Given the description of an element on the screen output the (x, y) to click on. 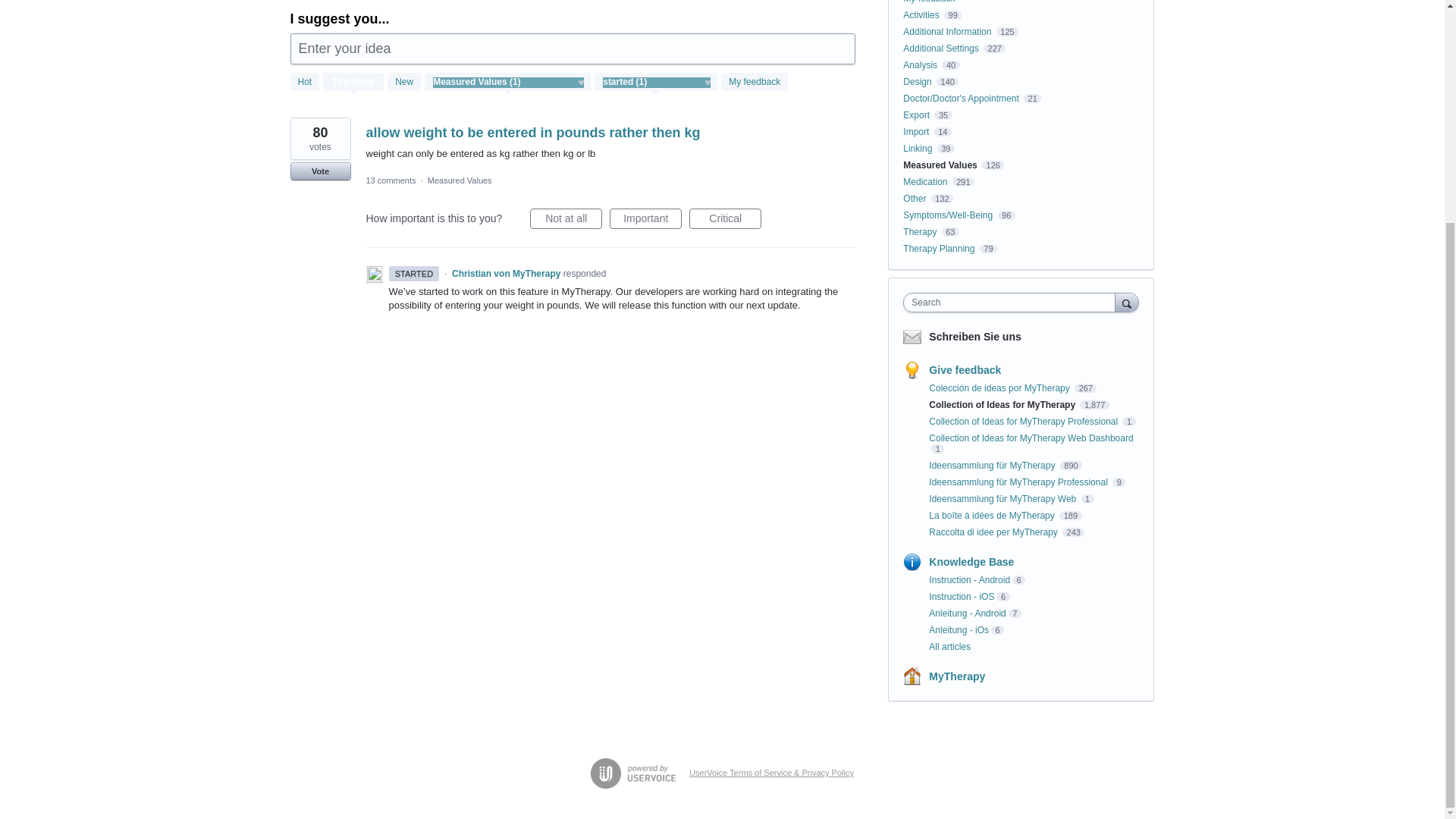
My feedback (753, 81)
allow weight to be entered in pounds rather then kg (532, 132)
View all ideas in category Activities (920, 14)
13 comments (389, 180)
Top ideas (353, 83)
New (403, 81)
Hot (303, 81)
Vote (319, 171)
